Given the description of an element on the screen output the (x, y) to click on. 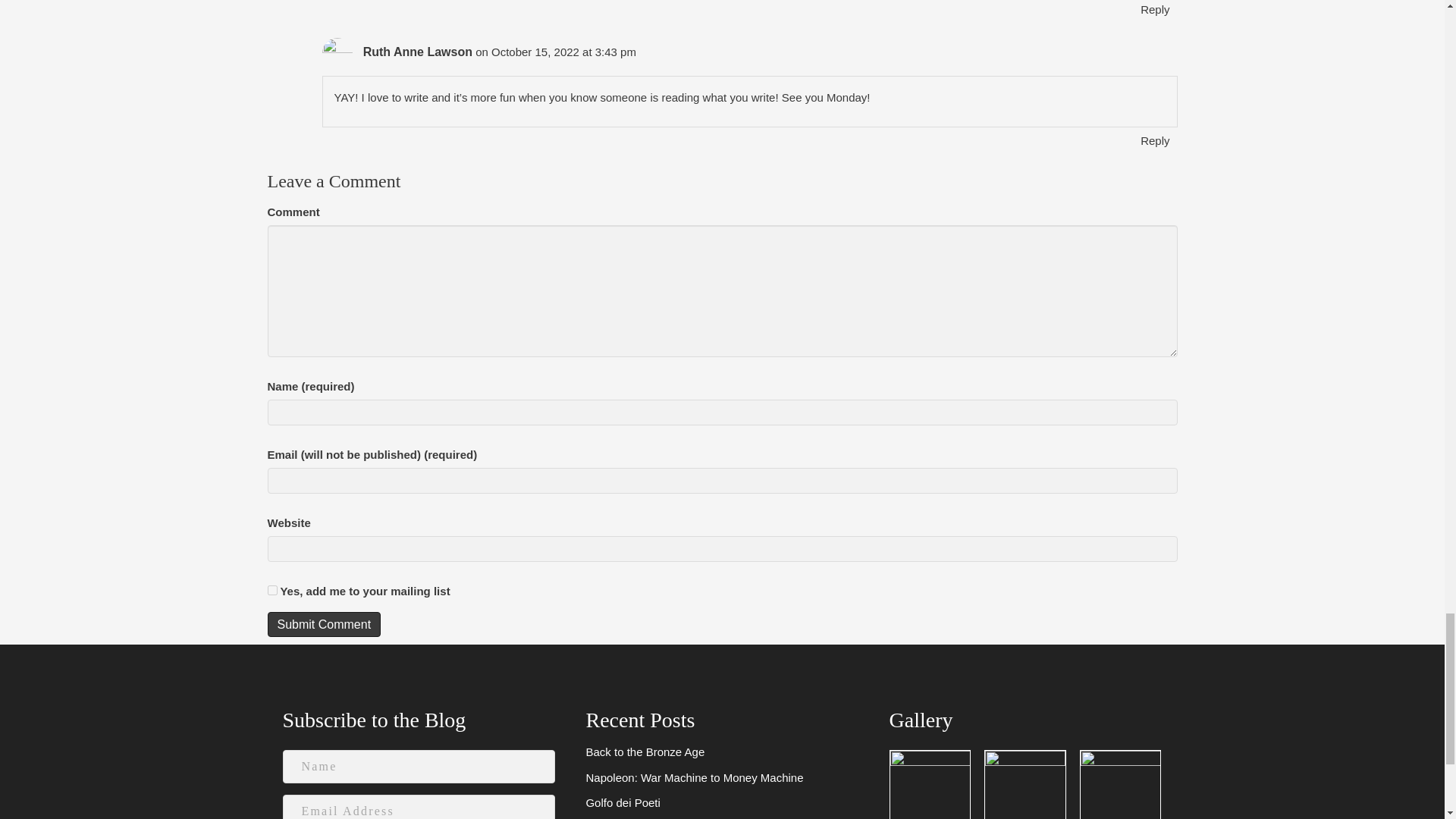
Submit Comment (323, 624)
2D6A1FC5-65D7-4F39-8B52-D6E344F3B3F1 (930, 785)
Napoleon: War Machine to Money Machine (694, 777)
Reply (1155, 9)
B9B51AF5-F053-4AAD-8757-118B430A16A9 (1025, 785)
41F4252F-BF9C-44FB-9316-3BEB012BDF3B (1120, 785)
Back to the Bronze Age (644, 751)
Subscribe to the Blog (373, 720)
Gallery (921, 720)
Submit Comment (323, 624)
Subscribe to the Blog (373, 720)
Gallery (921, 720)
1 (271, 590)
Reply (1155, 140)
Golfo dei Poeti (622, 802)
